Given the description of an element on the screen output the (x, y) to click on. 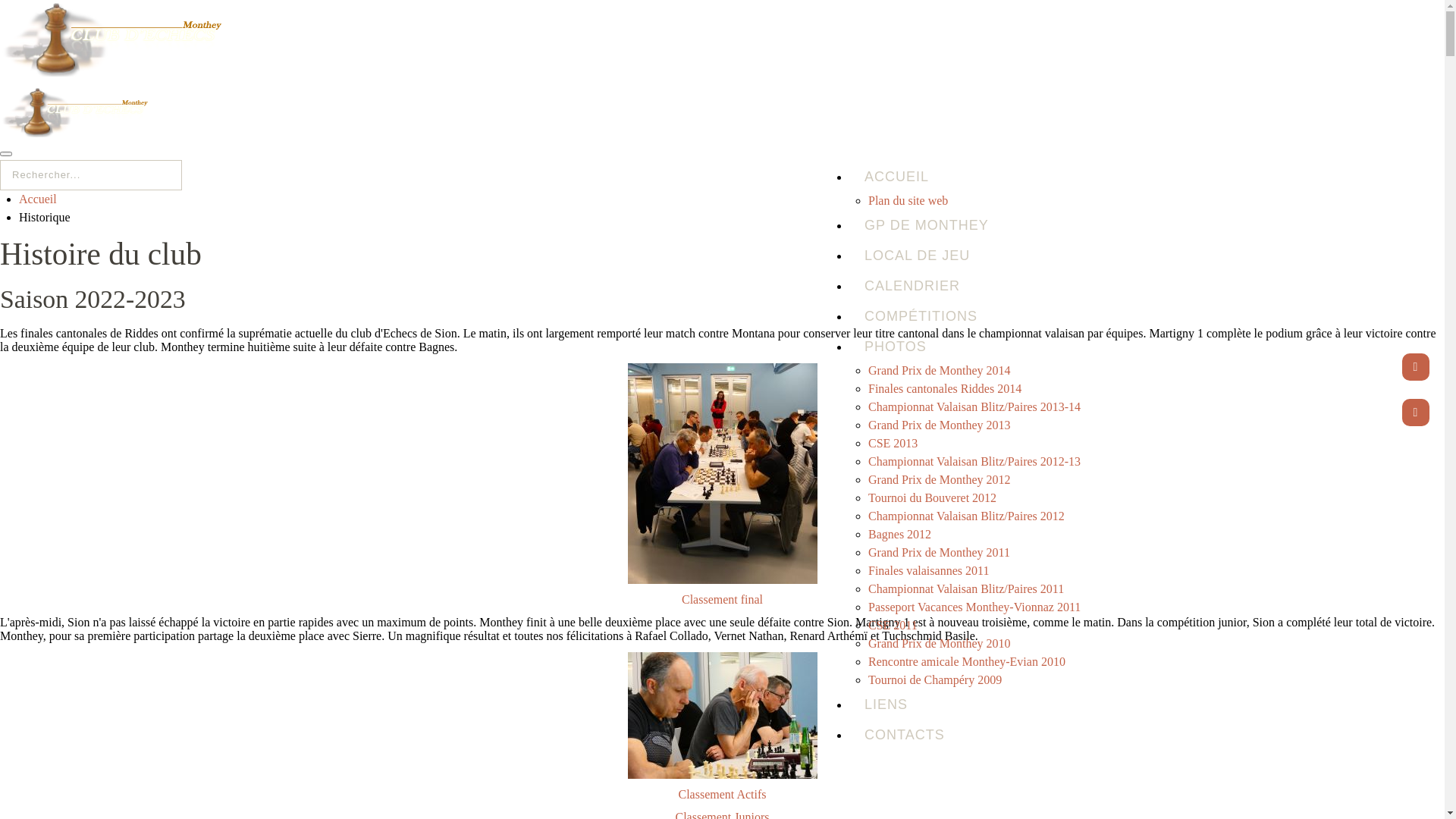
Championnat Valaisan Blitz/Paires 2012 Element type: text (966, 515)
Classement Actifs Element type: text (721, 793)
Finales cantonales Riddes 2014 Element type: text (944, 388)
Championnat Valaisan Blitz/Paires 2011 Element type: text (965, 588)
Plan du site web Element type: text (907, 200)
Grand Prix de Monthey 2010 Element type: text (939, 643)
CSE 2011 Element type: text (892, 624)
Tournoi du Bouveret 2012 Element type: text (932, 497)
LOCAL DE JEU Element type: text (1127, 255)
Passeport Vacances Monthey-Vionnaz 2011 Element type: text (974, 606)
Grand Prix de Monthey 2013 Element type: text (939, 424)
Bagnes 2012 Element type: text (899, 533)
LIENS Element type: text (1127, 704)
Championnat Valaisan Blitz/Paires 2013-14 Element type: text (974, 406)
Classement final Element type: text (721, 599)
Grand Prix de Monthey 2014 Element type: text (939, 370)
CALENDRIER Element type: text (1127, 285)
ACCUEIL Element type: text (1127, 176)
Grand Prix de Monthey 2011 Element type: text (939, 552)
PHOTOS Element type: text (1127, 346)
GP DE MONTHEY Element type: text (1127, 225)
CSE 2013 Element type: text (892, 442)
CONTACTS Element type: text (1127, 734)
Grand Prix de Monthey 2012 Element type: text (939, 479)
Finales valaisannes 2011 Element type: text (928, 570)
Rencontre amicale Monthey-Evian 2010 Element type: text (966, 661)
Championnat Valaisan Blitz/Paires 2012-13 Element type: text (974, 461)
Accueil Element type: text (37, 198)
